Given the description of an element on the screen output the (x, y) to click on. 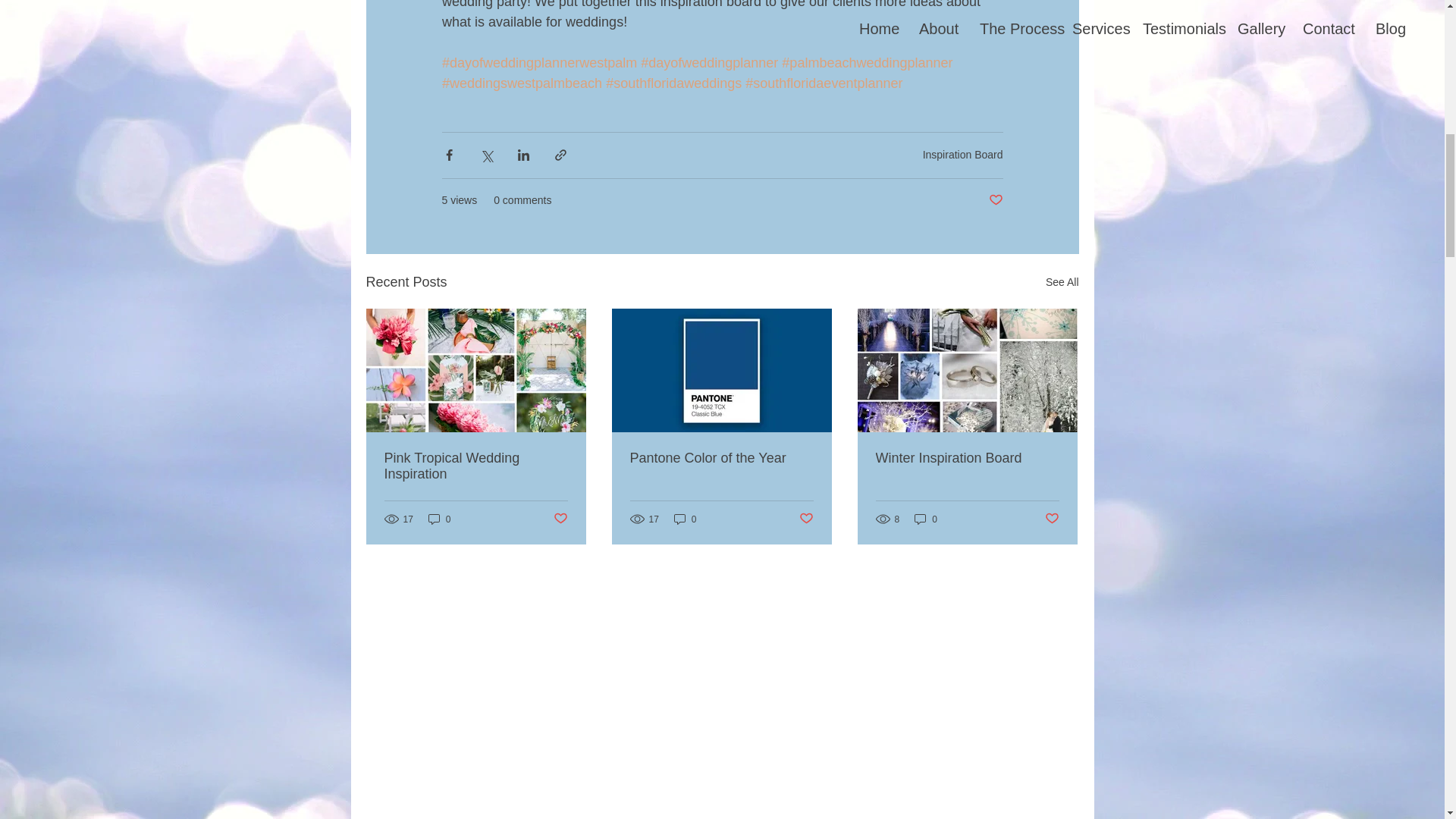
Pantone Color of the Year (720, 458)
Pink Tropical Wedding Inspiration (475, 466)
0 (925, 518)
0 (439, 518)
Post not marked as liked (806, 519)
Post not marked as liked (1052, 519)
Post not marked as liked (560, 519)
See All (1061, 282)
Winter Inspiration Board (966, 458)
0 (685, 518)
